Given the description of an element on the screen output the (x, y) to click on. 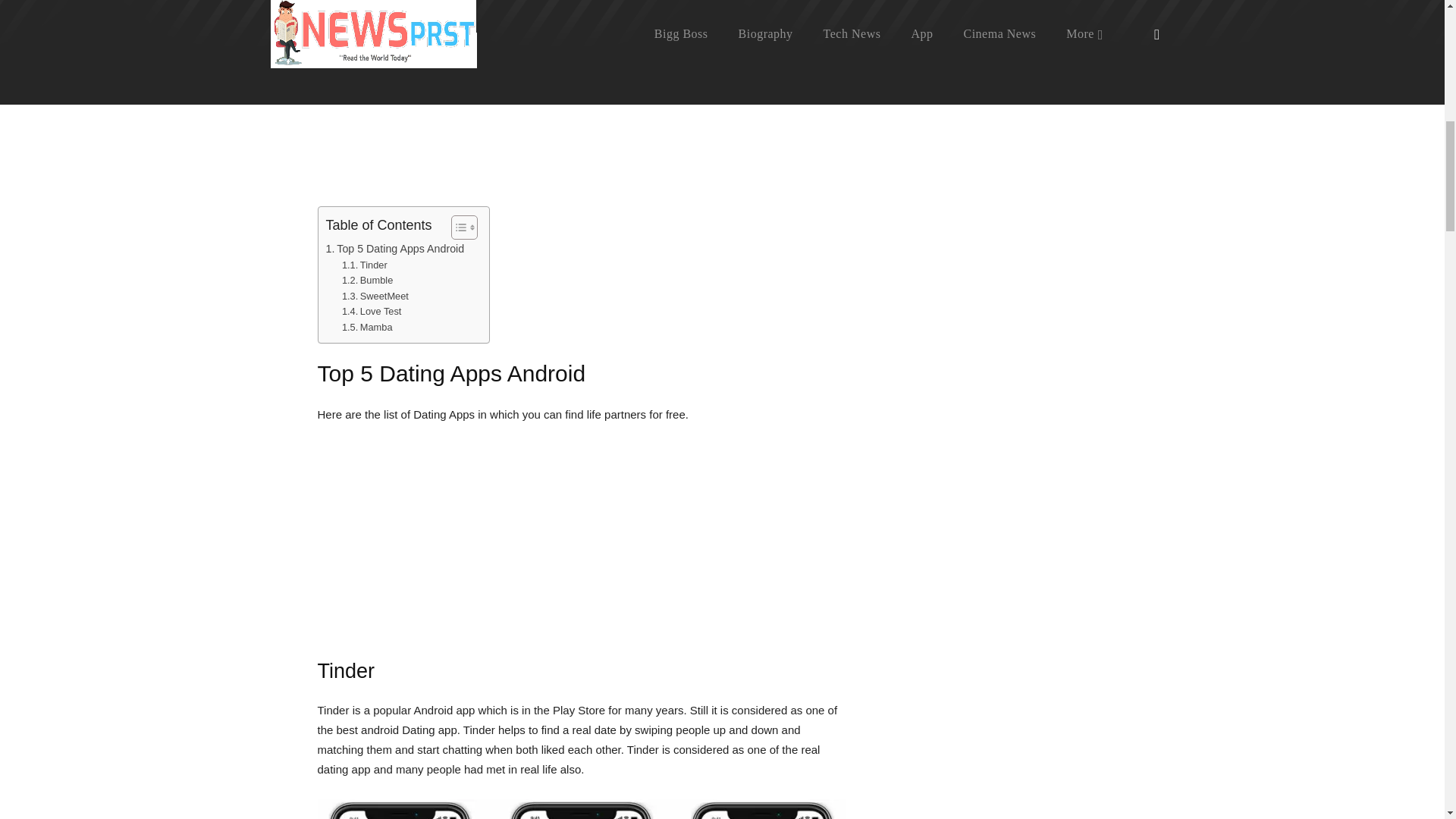
Love Test (371, 311)
Tinder (364, 265)
Top 5 Dating Apps Android (395, 248)
Bumble (367, 280)
Mamba (367, 327)
SweetMeet (375, 296)
